Given the description of an element on the screen output the (x, y) to click on. 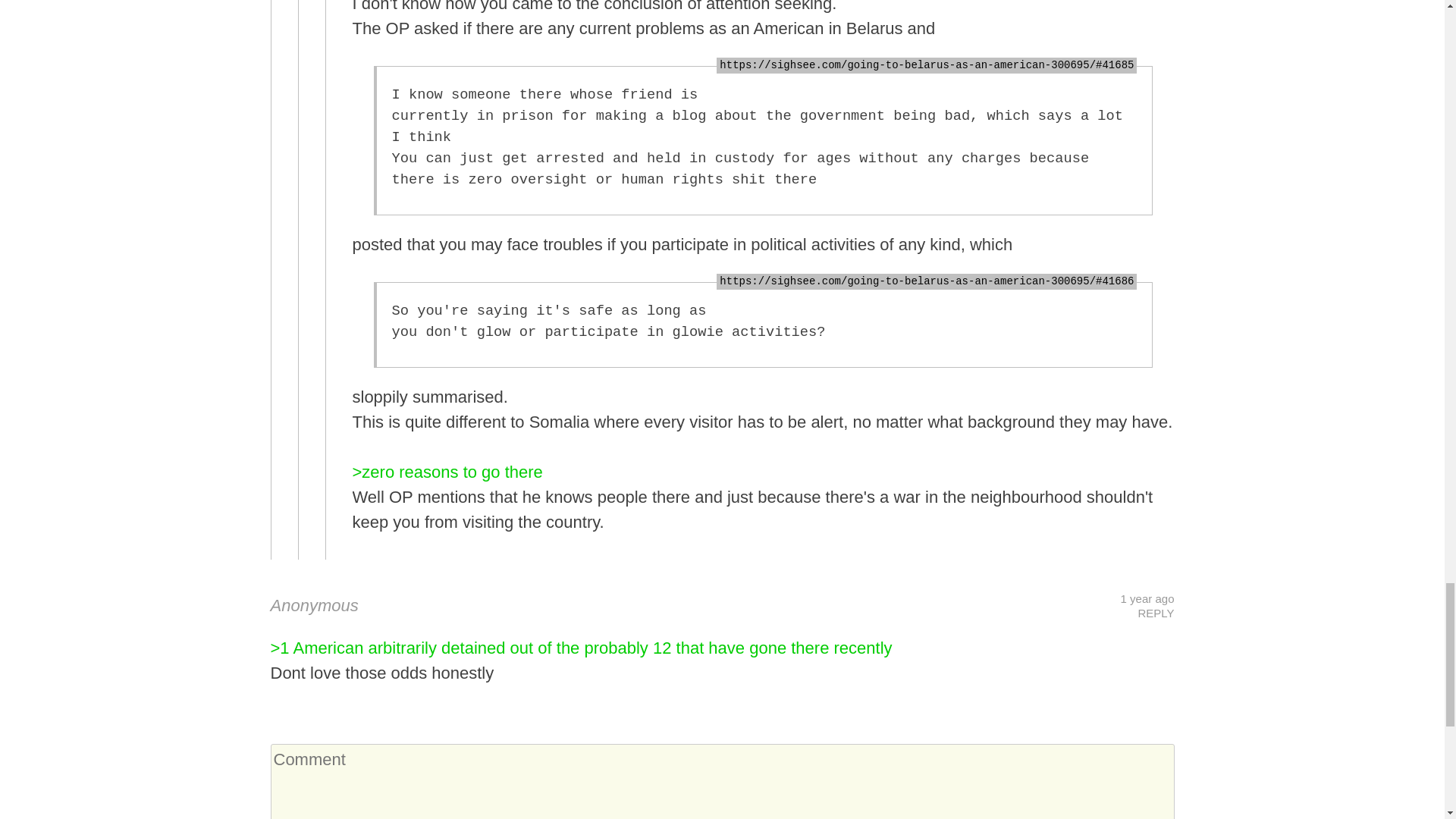
REPLY (1155, 612)
